Given the description of an element on the screen output the (x, y) to click on. 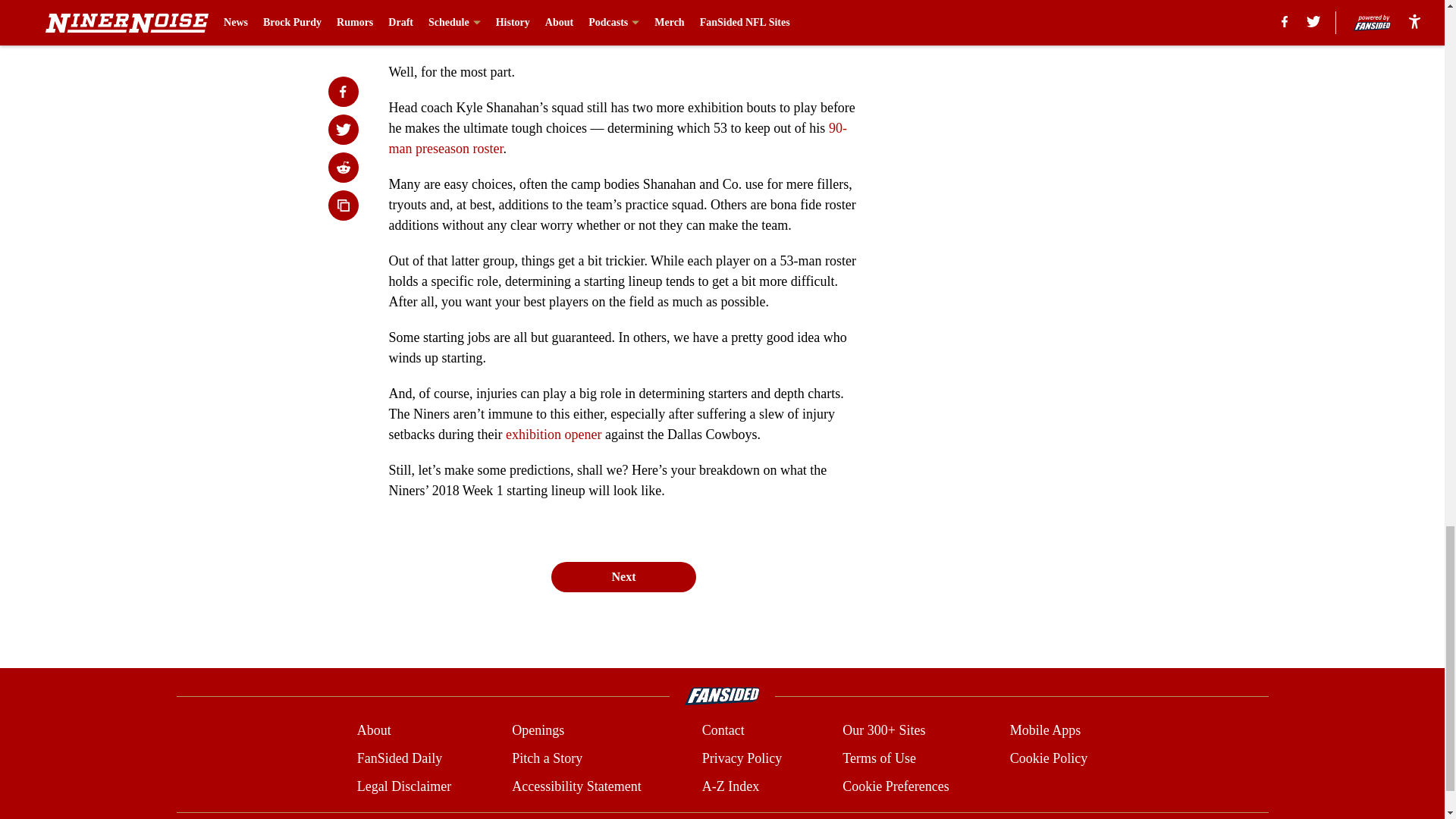
Openings (538, 730)
Mobile Apps (1045, 730)
Privacy Policy (742, 758)
FanSided Daily (399, 758)
Next (622, 576)
exhibition opener (553, 434)
90-man preseason roster (616, 138)
Pitch a Story (547, 758)
Contact (722, 730)
About (373, 730)
